Given the description of an element on the screen output the (x, y) to click on. 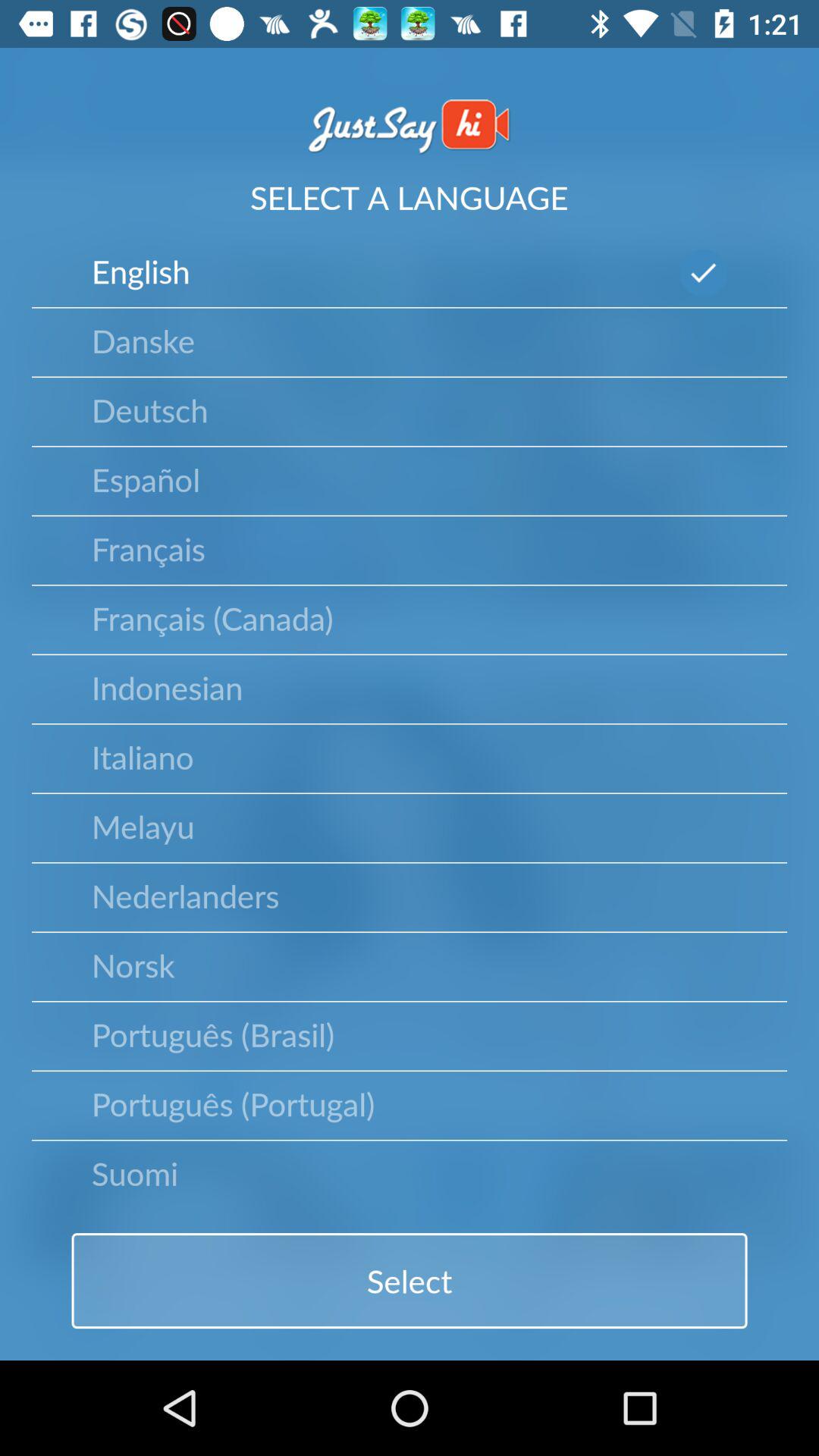
turn on the item above the suomi icon (232, 1103)
